Given the description of an element on the screen output the (x, y) to click on. 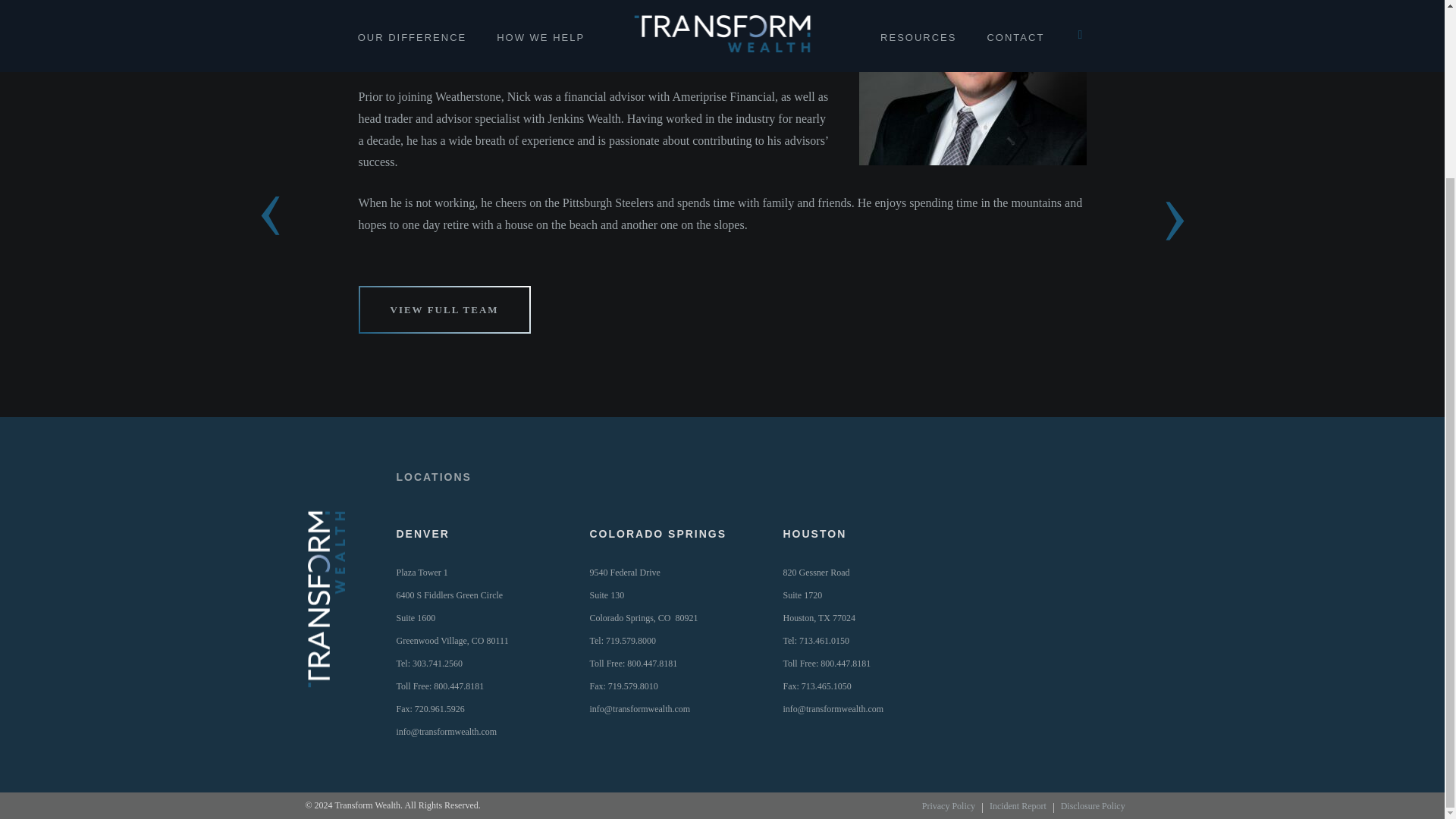
800.447.8181 (652, 663)
800.447.8181 (818, 595)
719.579.8010 (458, 685)
720.961.5926 (633, 685)
303.741.2560 (643, 595)
VIEW FULL TEAM (439, 708)
719.579.8000 (437, 663)
